Given the description of an element on the screen output the (x, y) to click on. 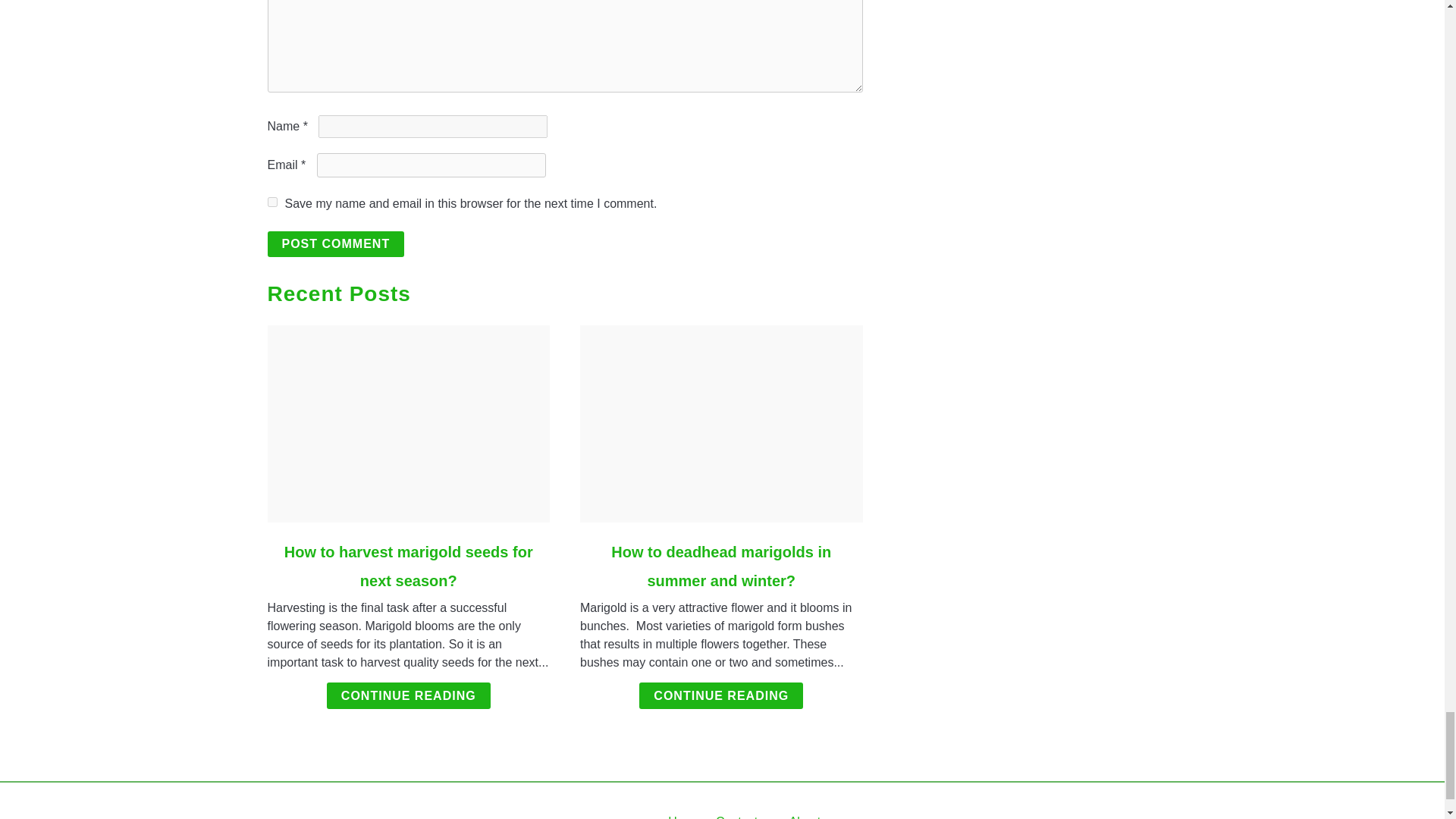
How to harvest marigold seeds for next season? (407, 565)
Post Comment (335, 243)
CONTINUE READING (721, 695)
CONTINUE READING (408, 695)
How to deadhead marigolds in summer and winter? (721, 565)
yes (271, 202)
link to How to harvest marigold seeds for next season? (408, 423)
Post Comment (335, 243)
link to How to deadhead marigolds in summer and winter? (721, 423)
